Given the description of an element on the screen output the (x, y) to click on. 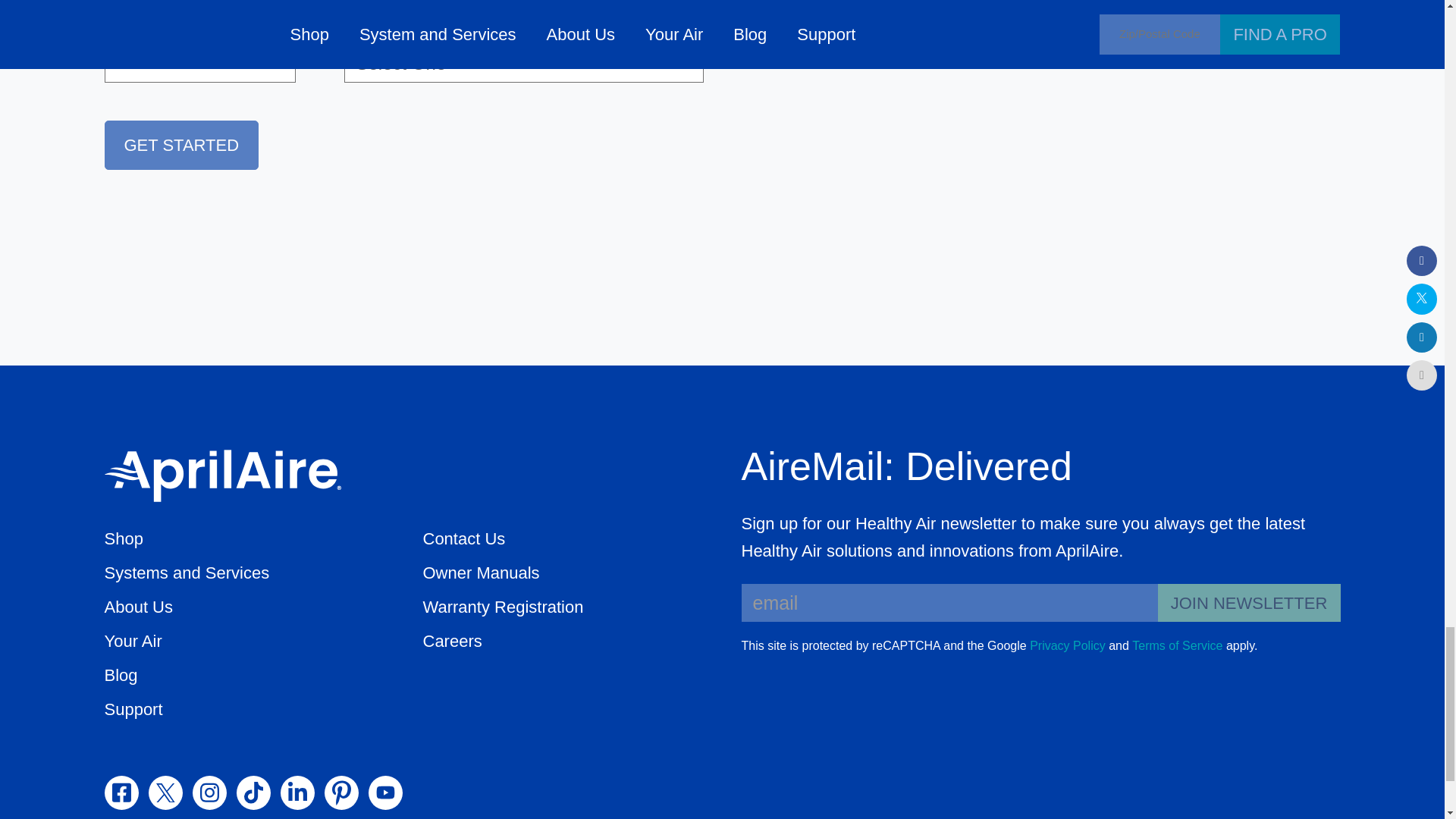
opens in a new window (252, 792)
opens in a new window (165, 792)
opens in a new window (1067, 646)
opens in a new window (209, 792)
opens in a new window (1177, 646)
opens in a new window (121, 792)
